Given the description of an element on the screen output the (x, y) to click on. 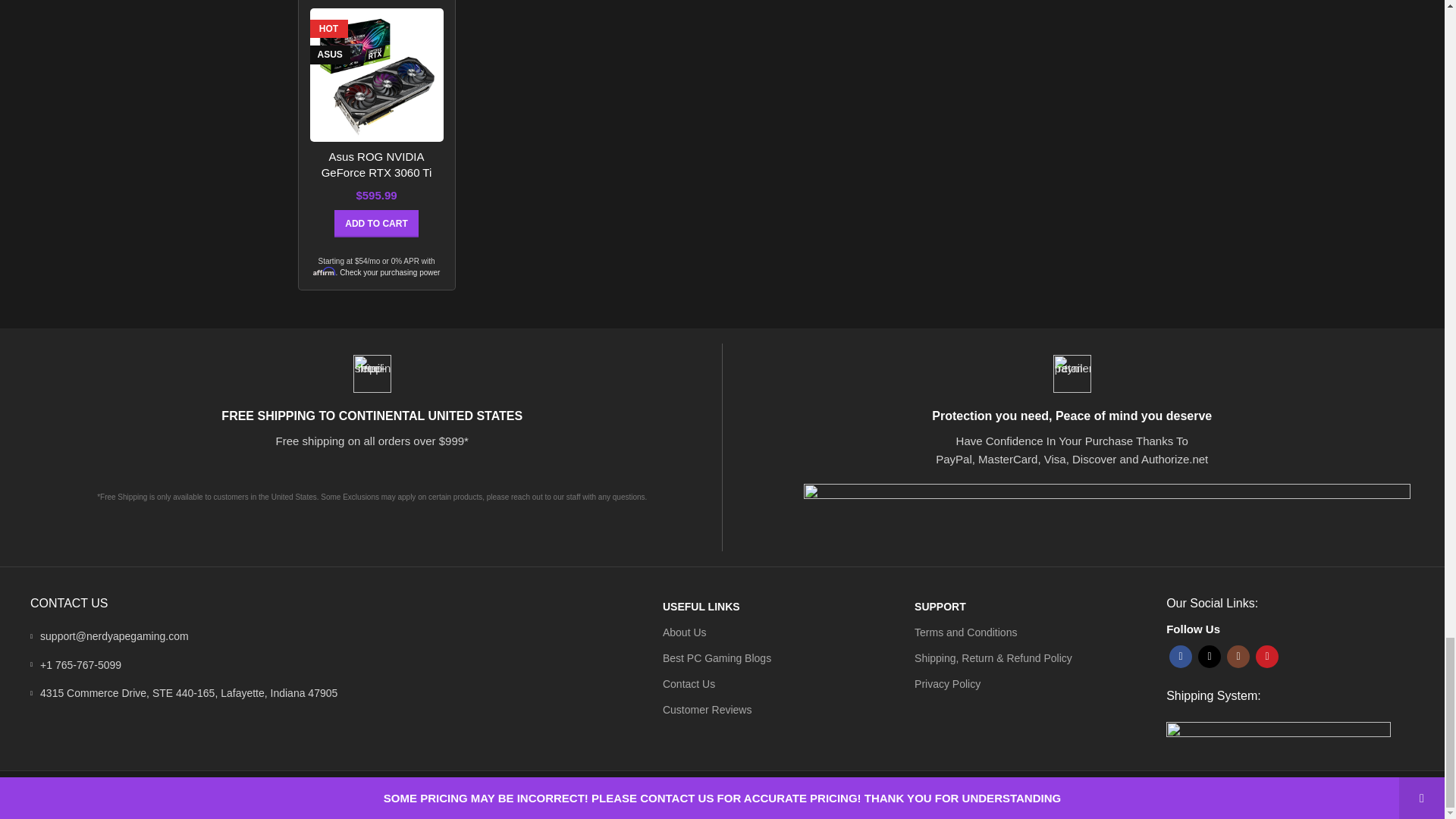
retail-free-shipping.svg (372, 373)
retail-payment.svg (1071, 373)
